Given the description of an element on the screen output the (x, y) to click on. 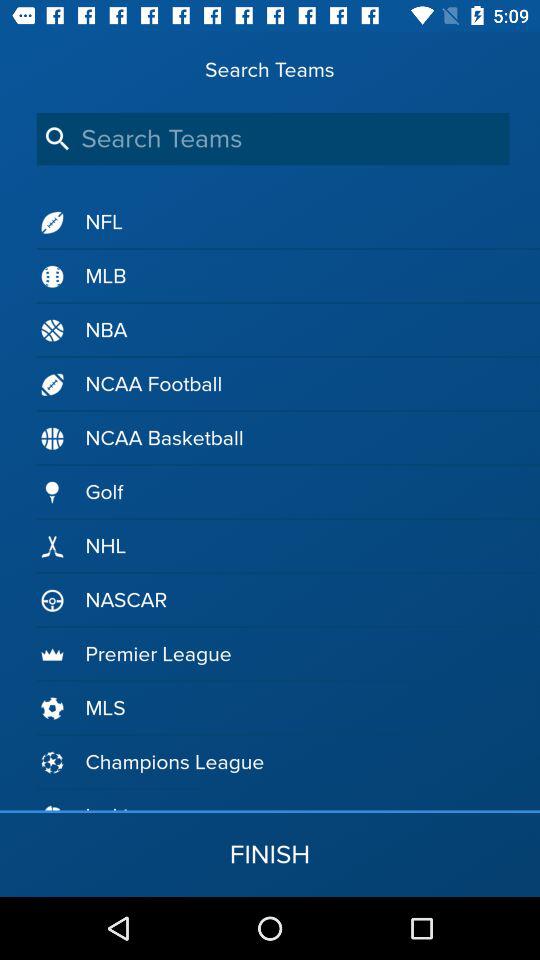
open icon below search teams item (272, 138)
